Given the description of an element on the screen output the (x, y) to click on. 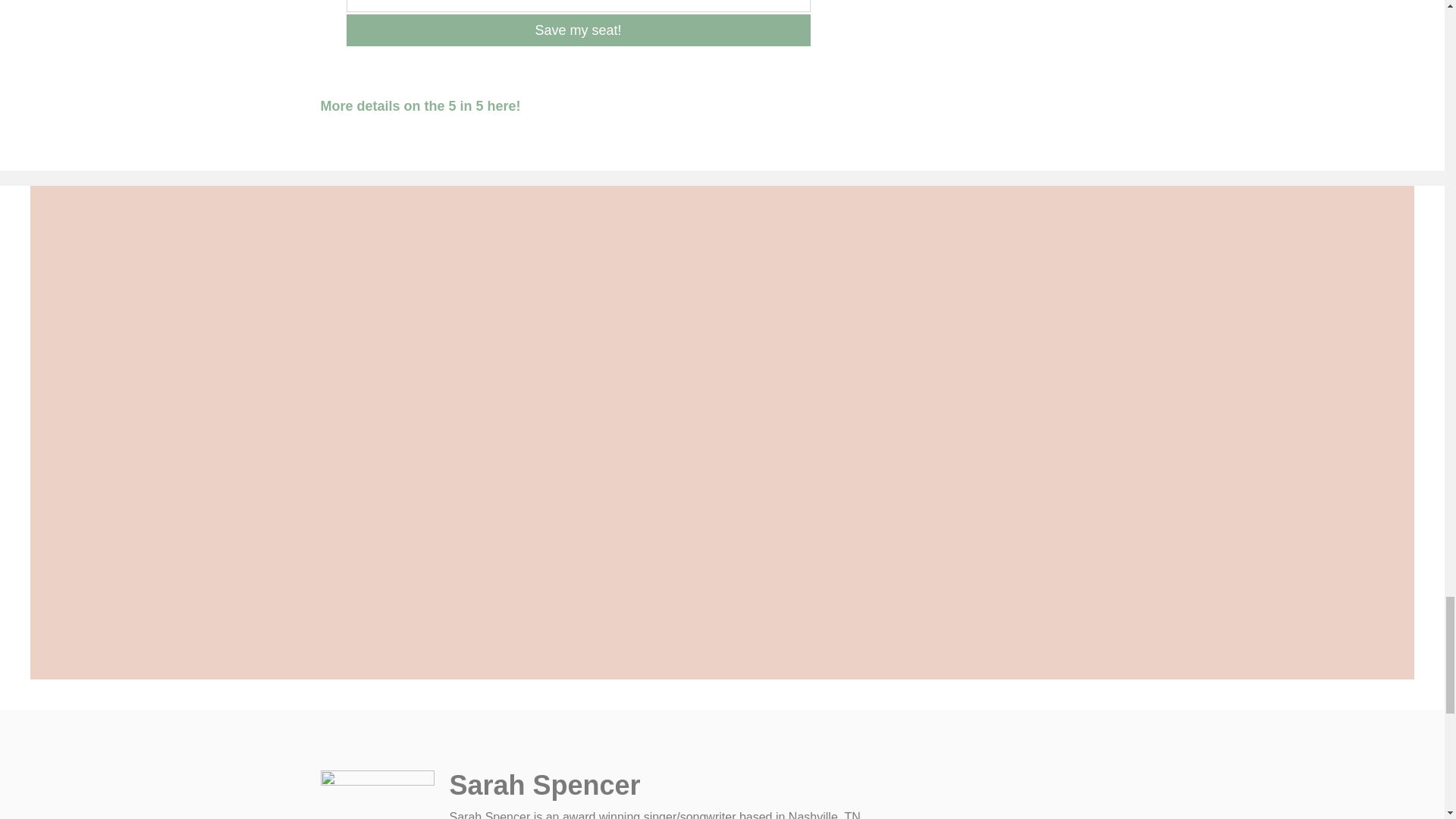
Save my seat! (577, 29)
More details on the 5 in 5 here! (419, 105)
